Given the description of an element on the screen output the (x, y) to click on. 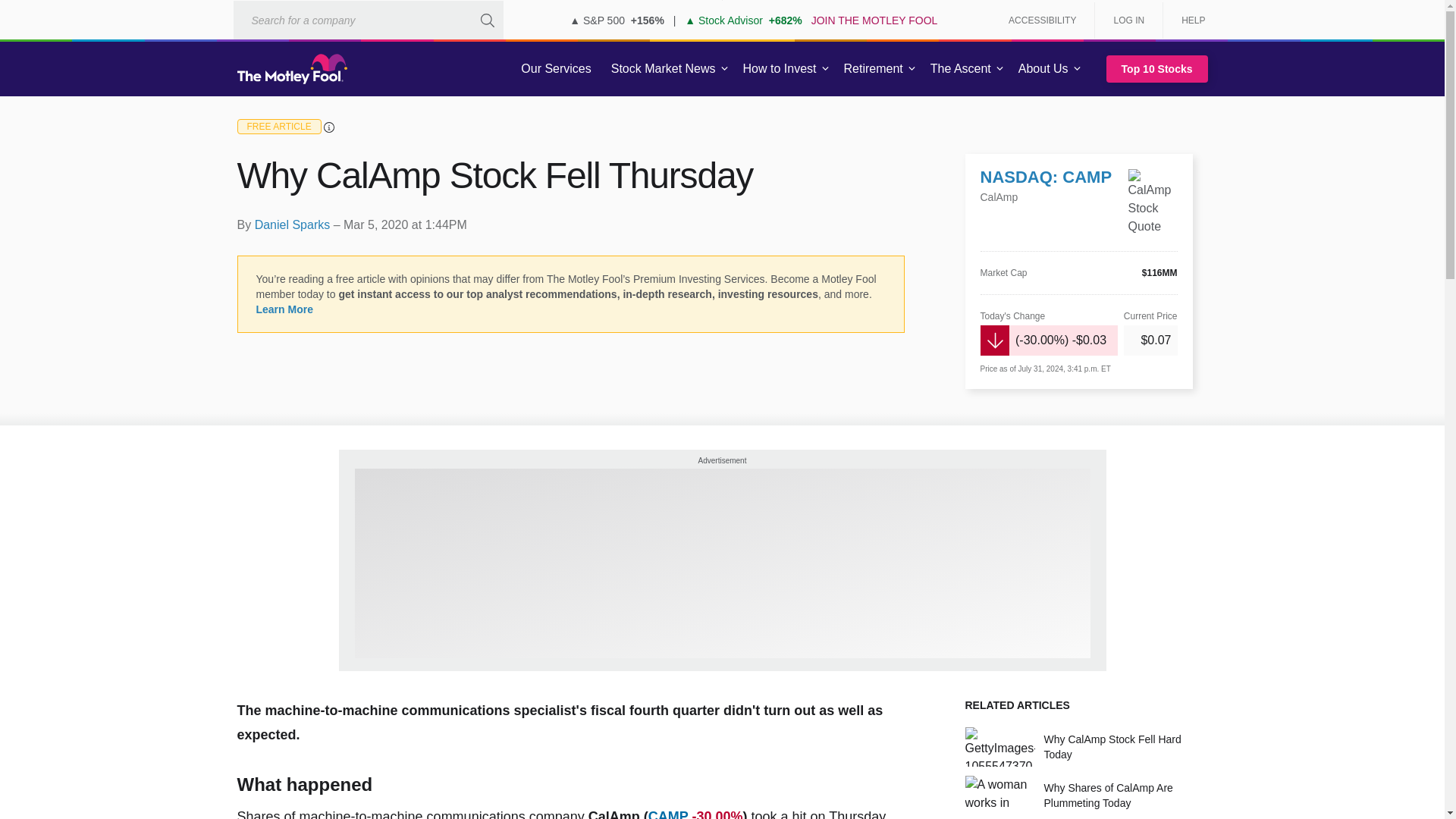
Our Services (555, 68)
How to Invest (779, 68)
ACCESSIBILITY (1042, 19)
HELP (1187, 19)
Stock Market News (662, 68)
LOG IN (1128, 19)
